Given the description of an element on the screen output the (x, y) to click on. 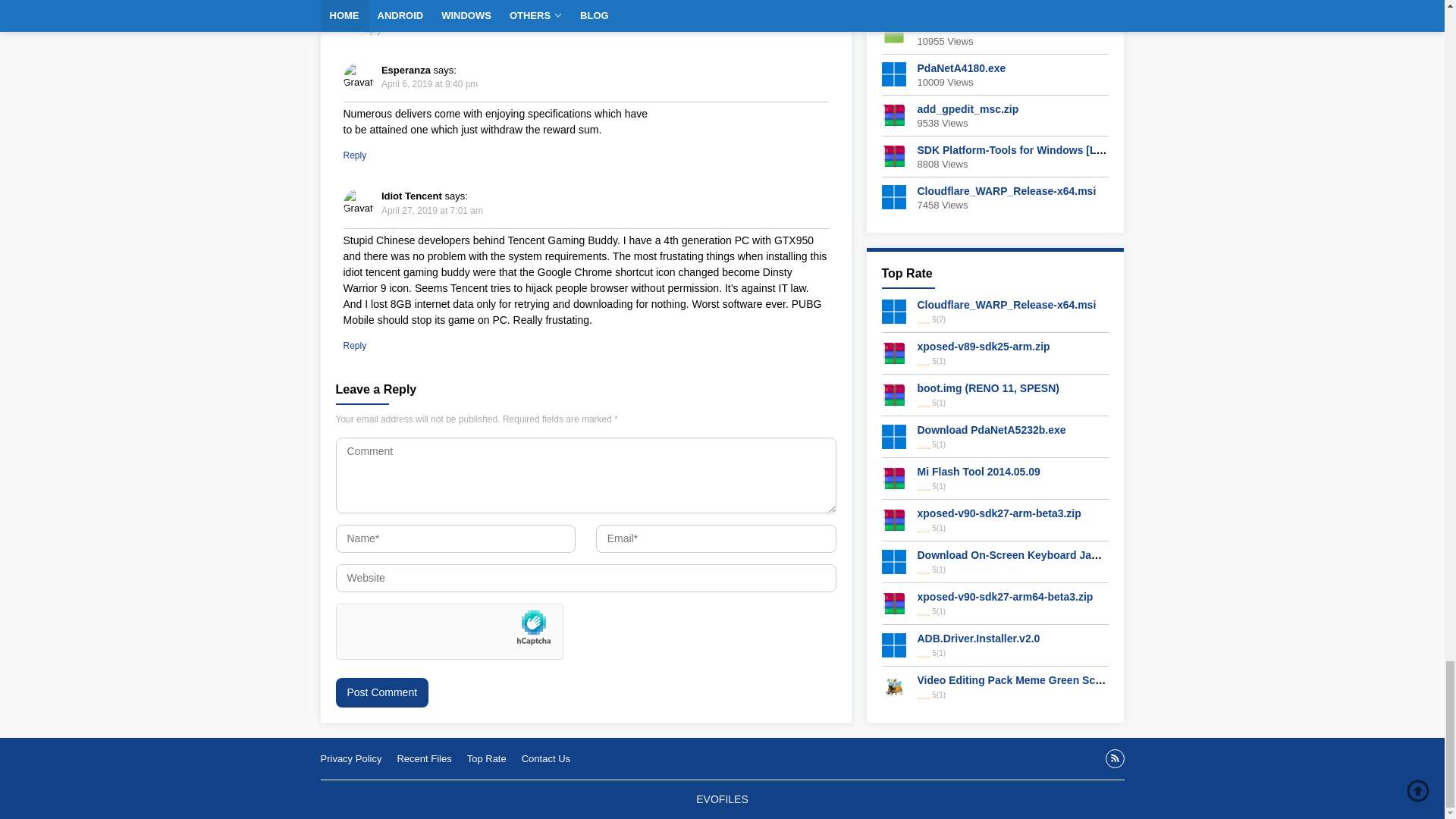
Post Comment (381, 692)
